Given the description of an element on the screen output the (x, y) to click on. 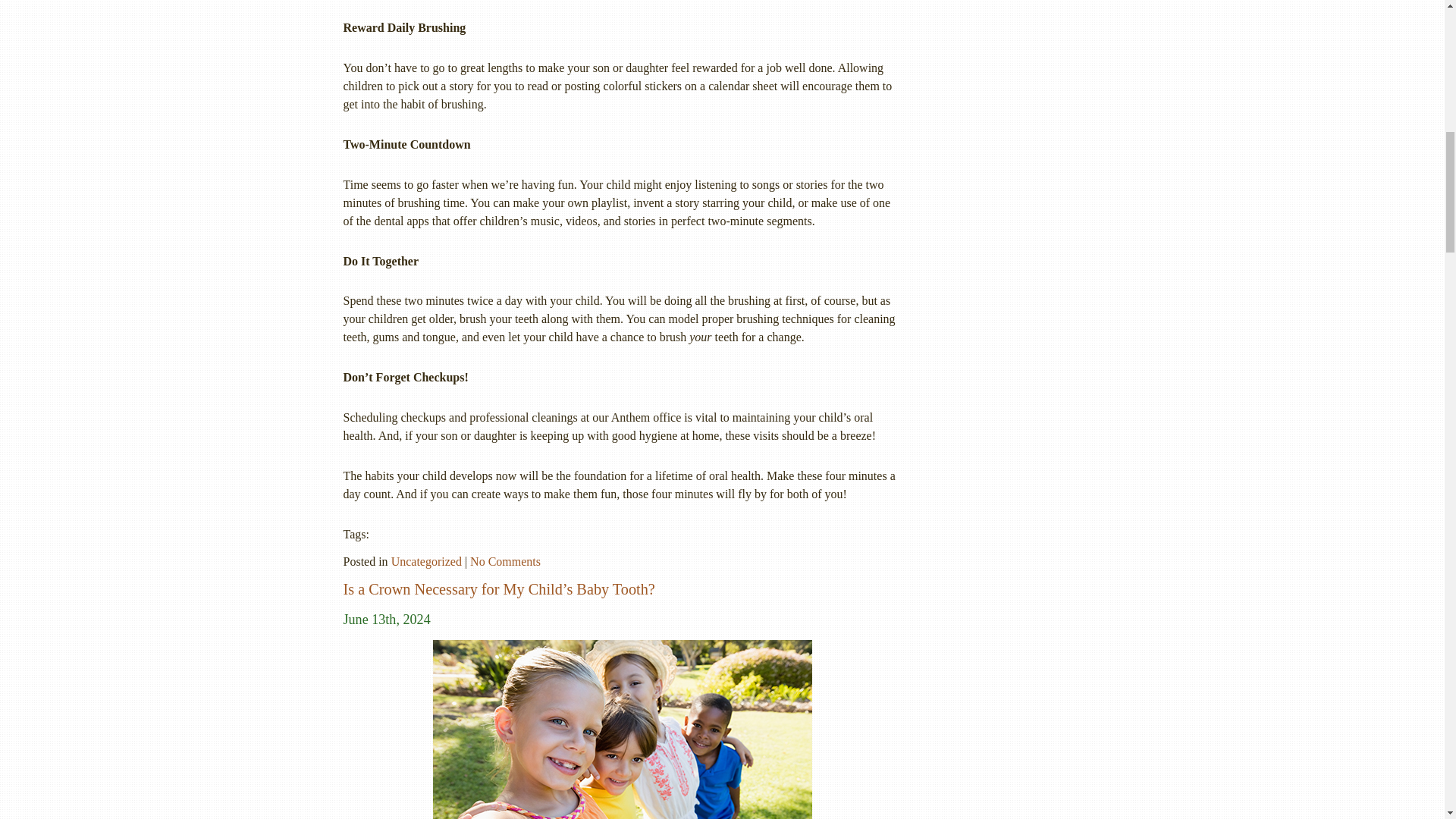
Uncategorized (426, 561)
No Comments (505, 561)
